Given the description of an element on the screen output the (x, y) to click on. 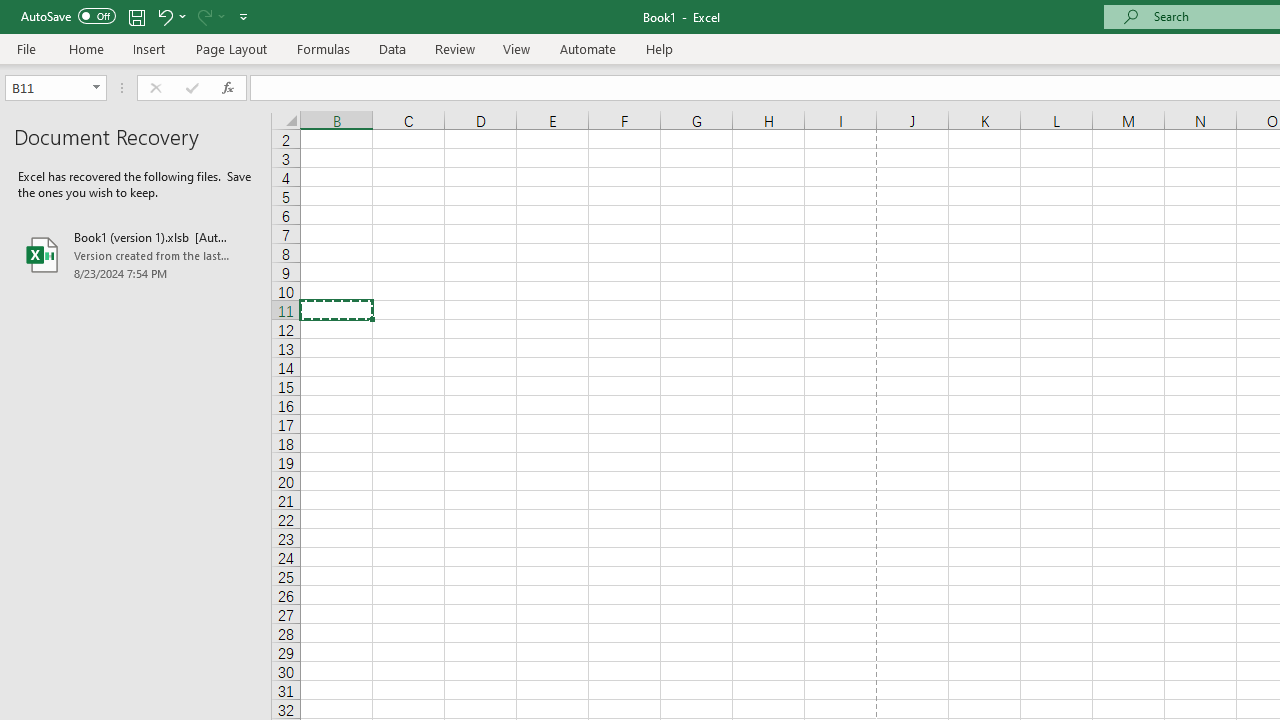
Automate (588, 48)
Book1 (version 1).xlsb  [AutoRecovered] (136, 254)
